Given the description of an element on the screen output the (x, y) to click on. 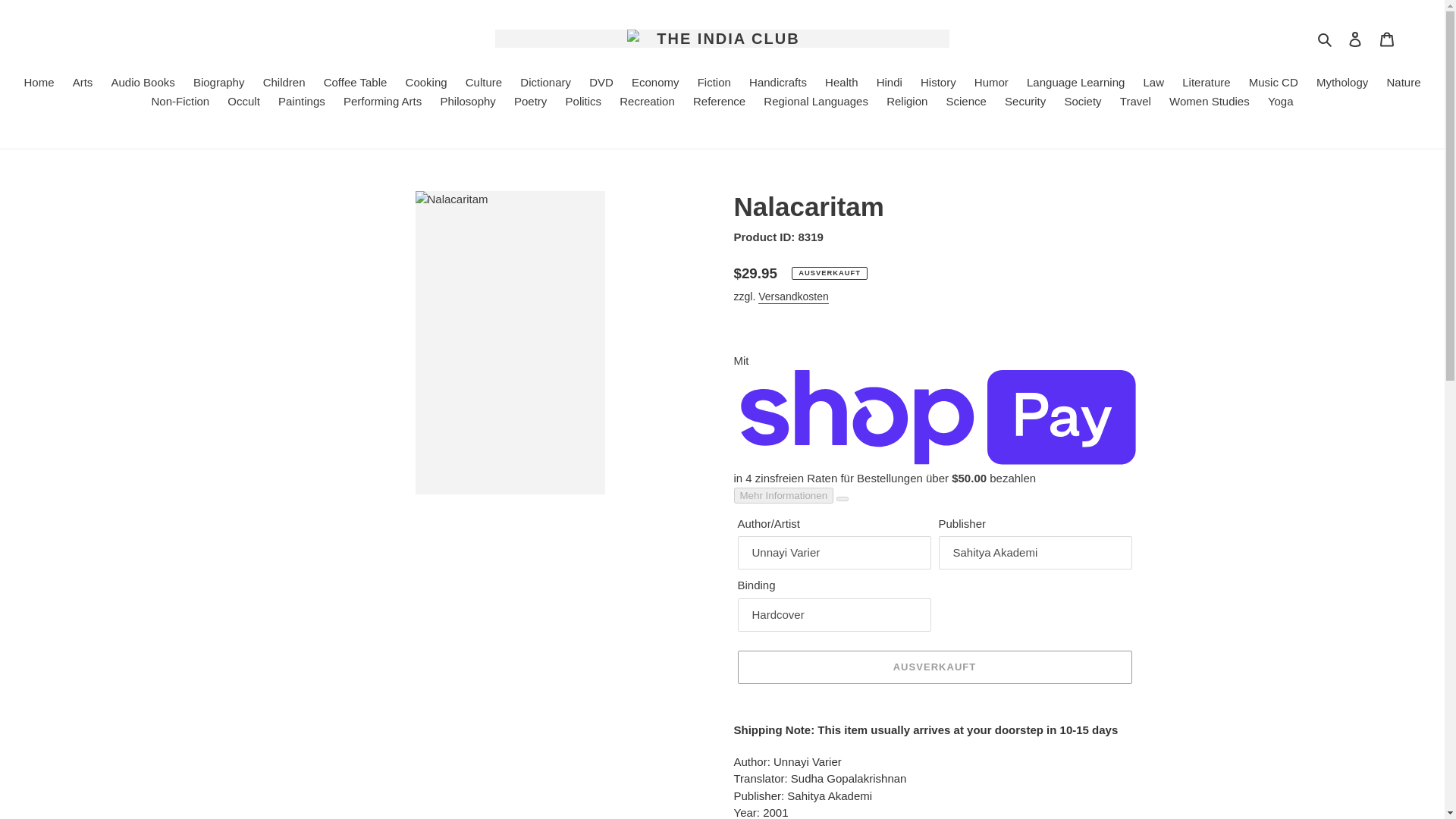
Einloggen (1355, 38)
Warenkorb (1387, 38)
Suchen (1326, 38)
